Given the description of an element on the screen output the (x, y) to click on. 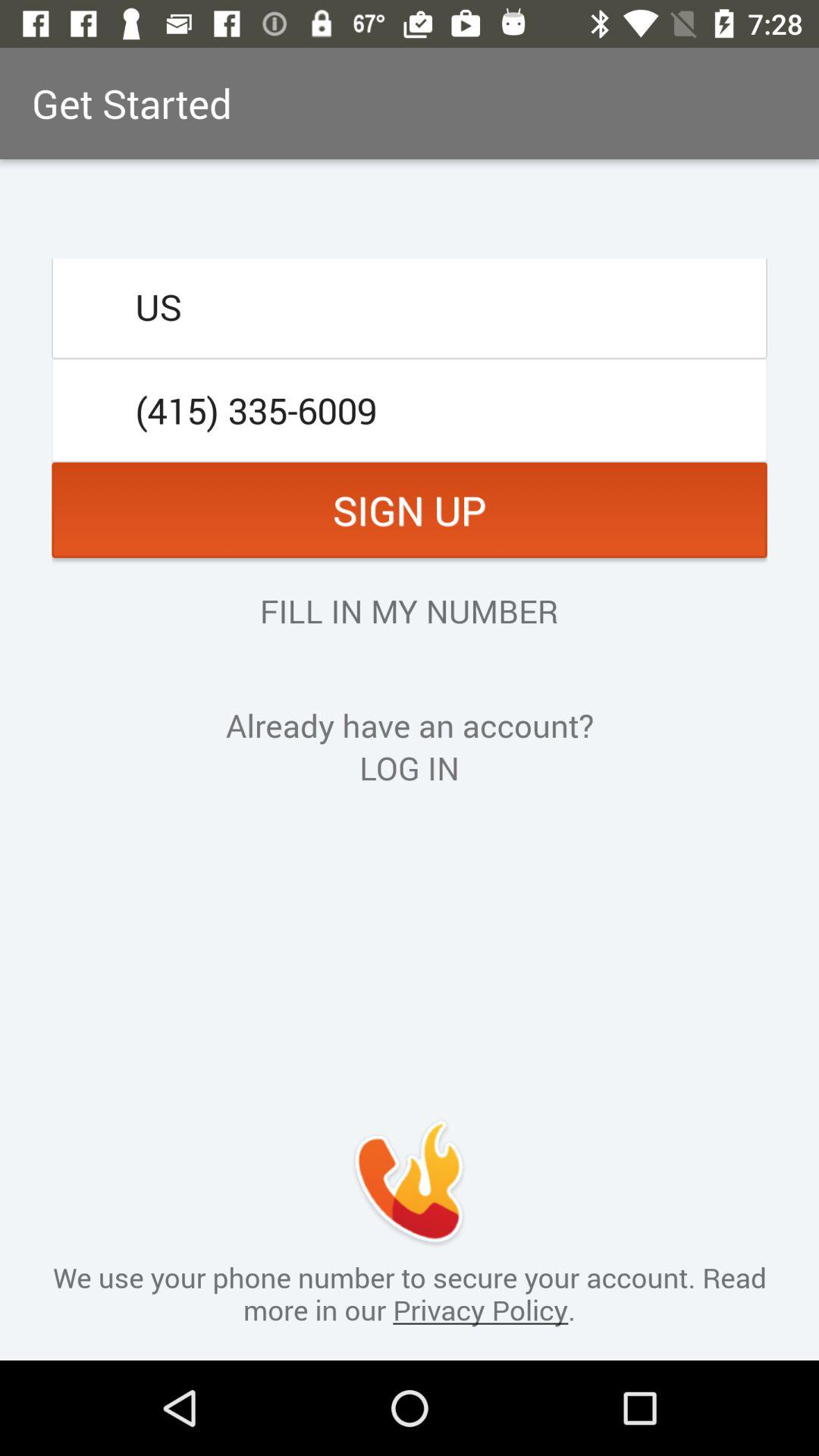
launch log in item (409, 767)
